Given the description of an element on the screen output the (x, y) to click on. 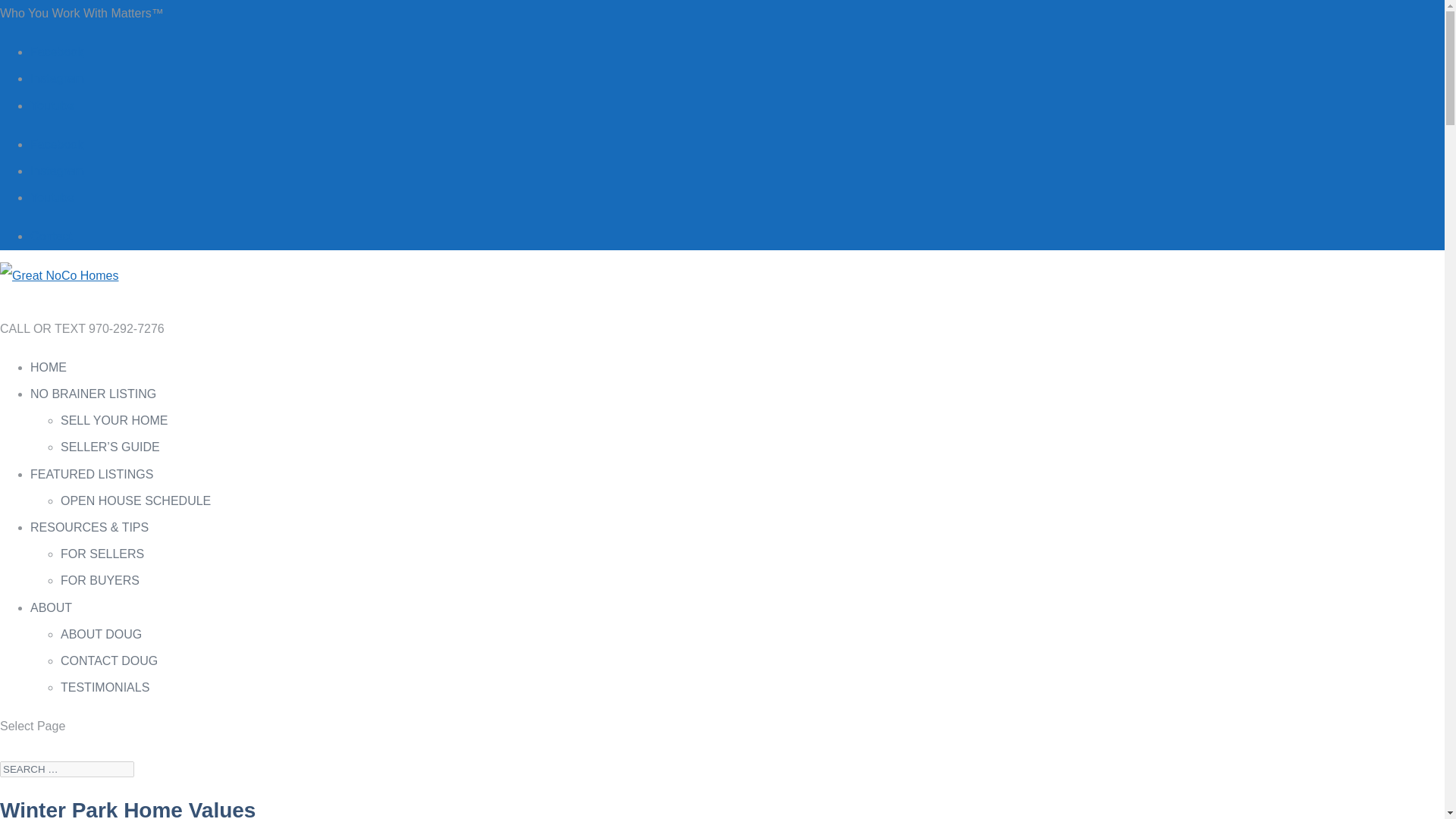
FEATURED LISTINGS (91, 483)
Youtube (52, 105)
OPEN HOUSE SCHEDULE (136, 500)
Youtube (52, 196)
Instagram (57, 170)
Search for: (66, 769)
NO BRAINER LISTING (92, 403)
Instagram (57, 78)
FOR BUYERS (100, 580)
Facebook (56, 51)
Contact (50, 236)
HOME (48, 377)
SELL YOUR HOME (114, 420)
ABOUT (58, 617)
FOR SELLERS (102, 553)
